Given the description of an element on the screen output the (x, y) to click on. 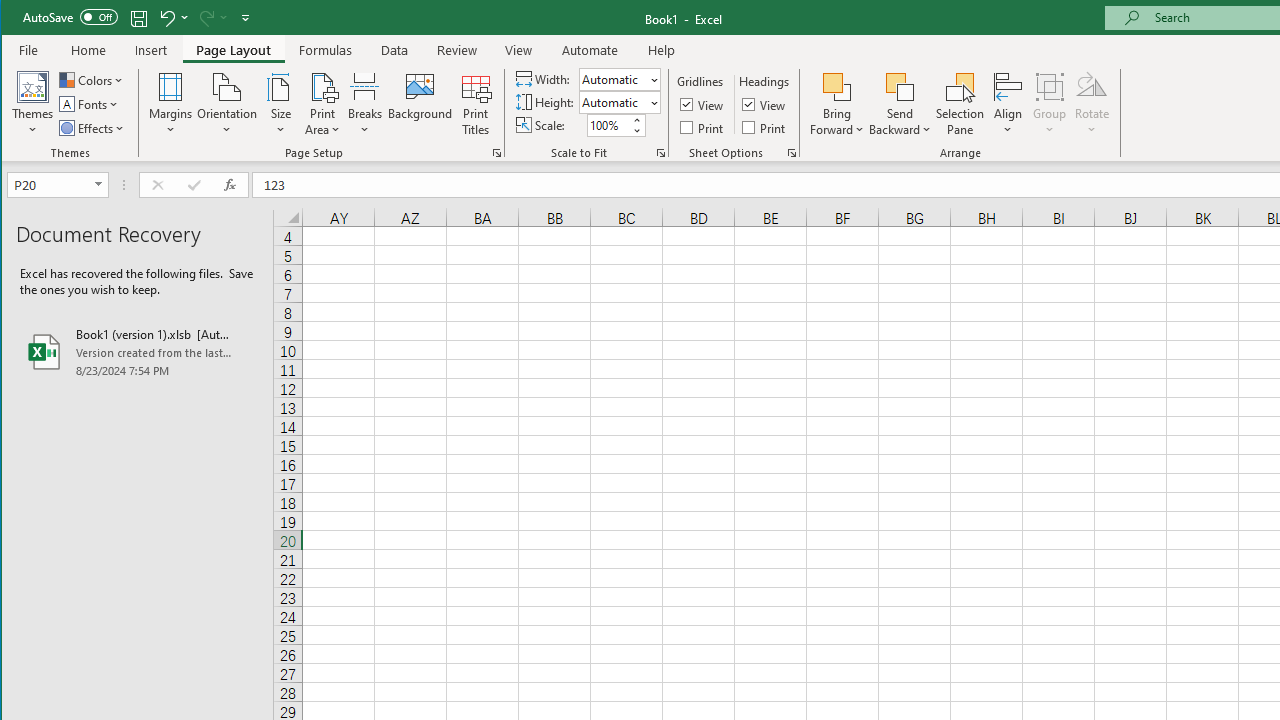
Undo (166, 17)
Background... (420, 104)
AutoSave (70, 16)
Breaks (365, 104)
Themes (33, 104)
More (636, 120)
System (19, 18)
Bring Forward (836, 104)
Fonts (90, 103)
Formulas (326, 50)
View (765, 103)
Height (612, 102)
Book1 (version 1).xlsb  [AutoRecovered] (137, 352)
Width (619, 78)
Send Backward (900, 86)
